Given the description of an element on the screen output the (x, y) to click on. 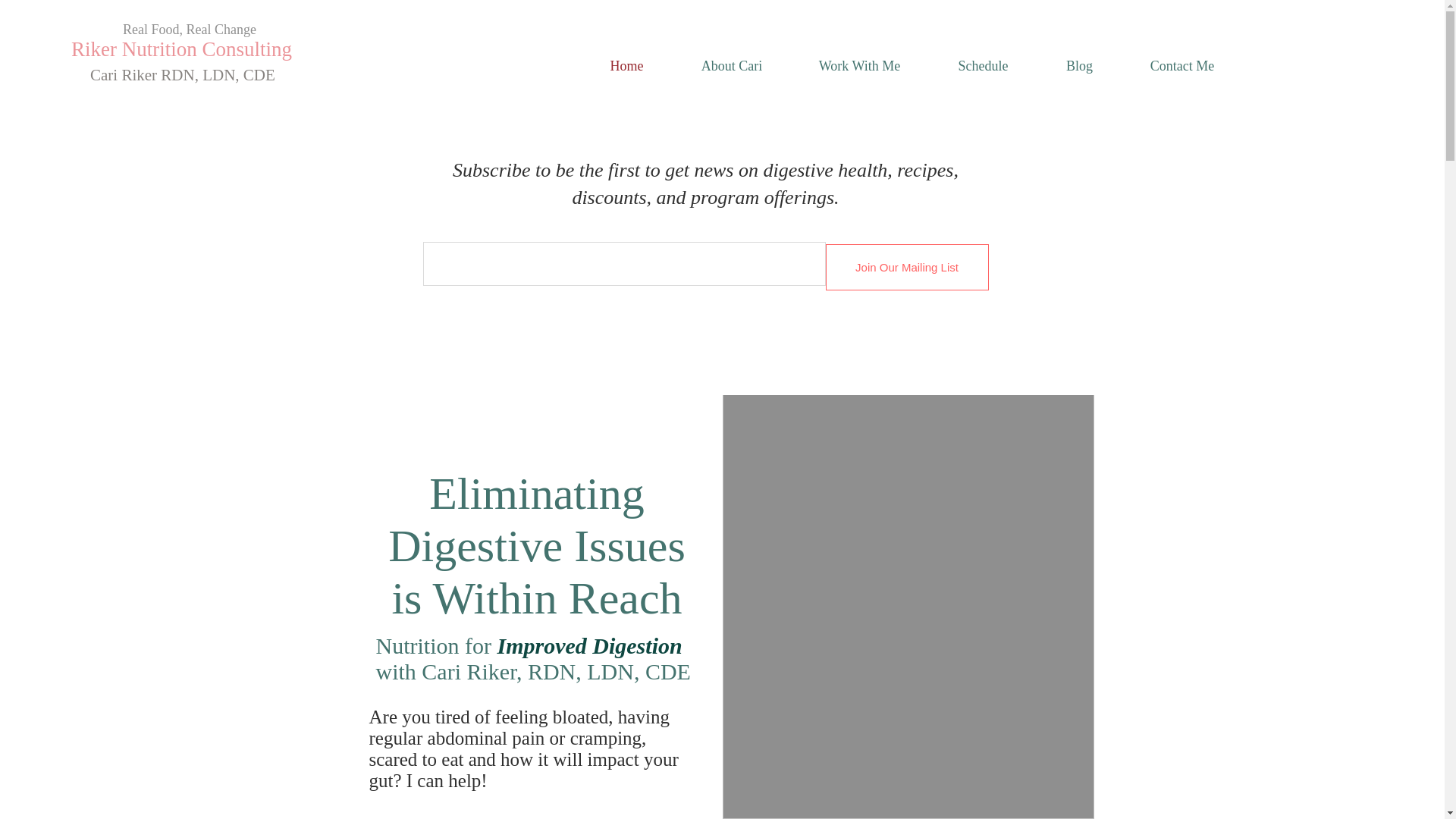
Schedule (983, 65)
Home (626, 65)
About Cari (731, 65)
Contact Me (1182, 65)
Join Our Mailing List (906, 267)
Work With Me (859, 65)
Riker Nutrition Consulting (181, 48)
Real Food, Real Change (189, 29)
Blog (1079, 65)
